Given the description of an element on the screen output the (x, y) to click on. 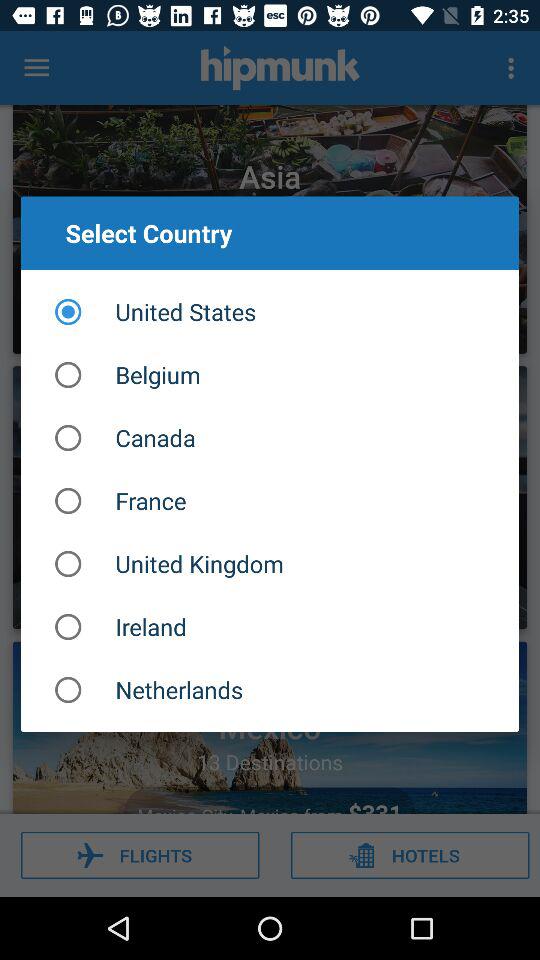
click the icon below united kingdom (270, 626)
